Given the description of an element on the screen output the (x, y) to click on. 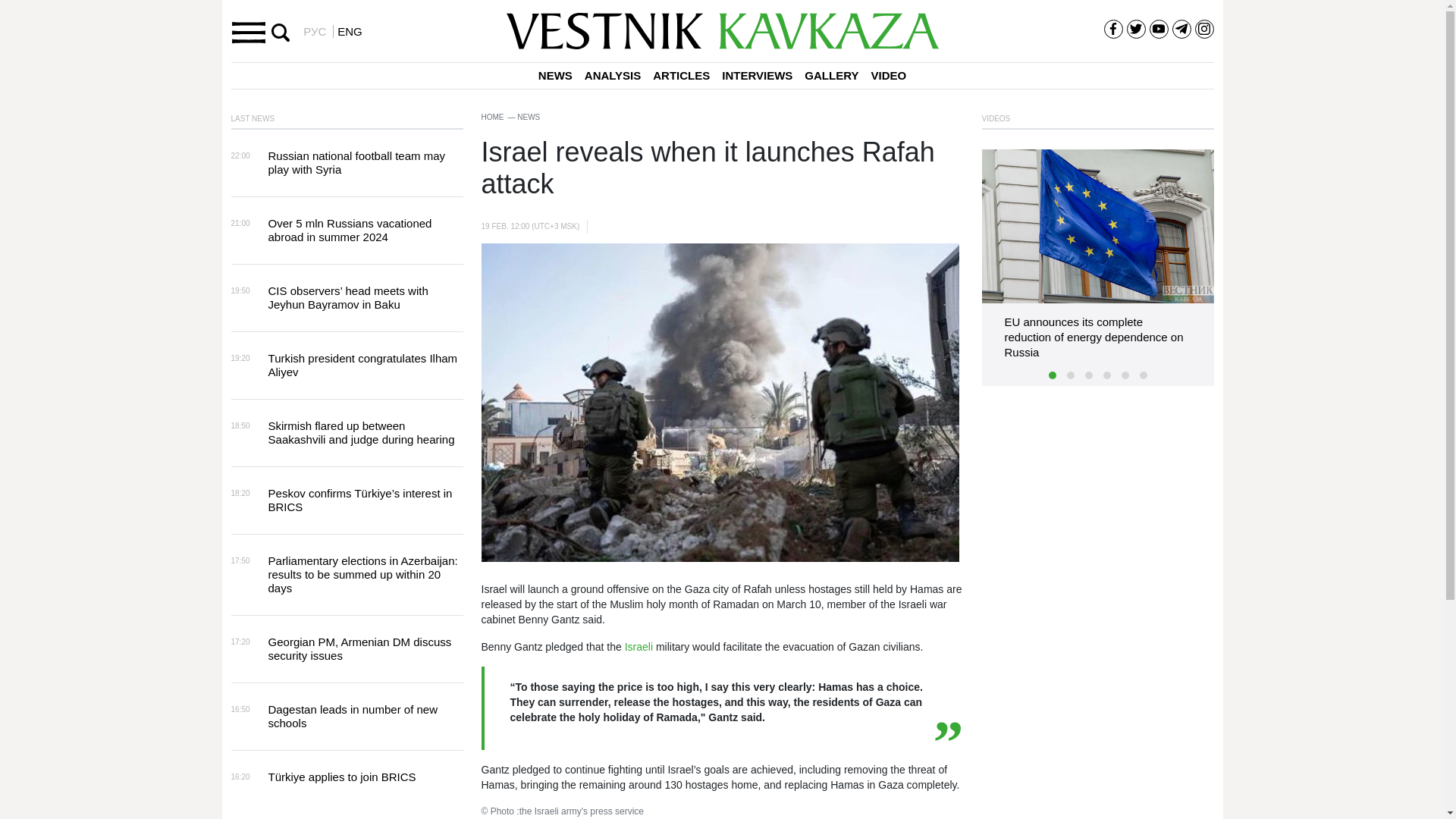
ANALYSIS (612, 75)
NEWS (555, 75)
LAST NEWS (256, 115)
ENG (347, 31)
ARTICLES (681, 75)
INTERVIEWS (756, 75)
HOME (491, 117)
GALLERY (830, 75)
Over 5 mln Russians vacationed abroad in summer 2024 (349, 230)
